Given the description of an element on the screen output the (x, y) to click on. 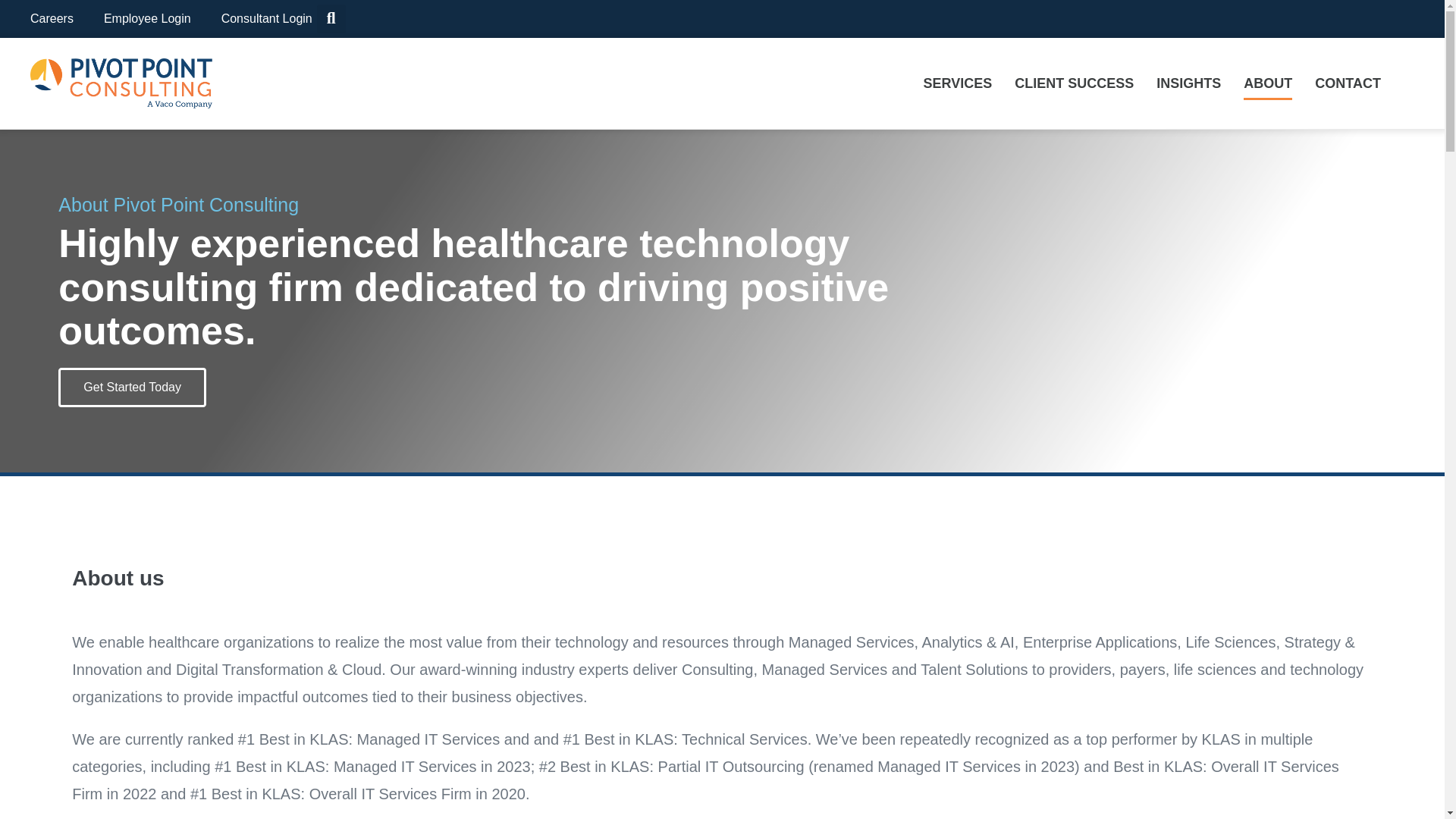
SERVICES (957, 82)
Consultant Login (267, 18)
Employee Login (146, 18)
Careers (52, 18)
